Given the description of an element on the screen output the (x, y) to click on. 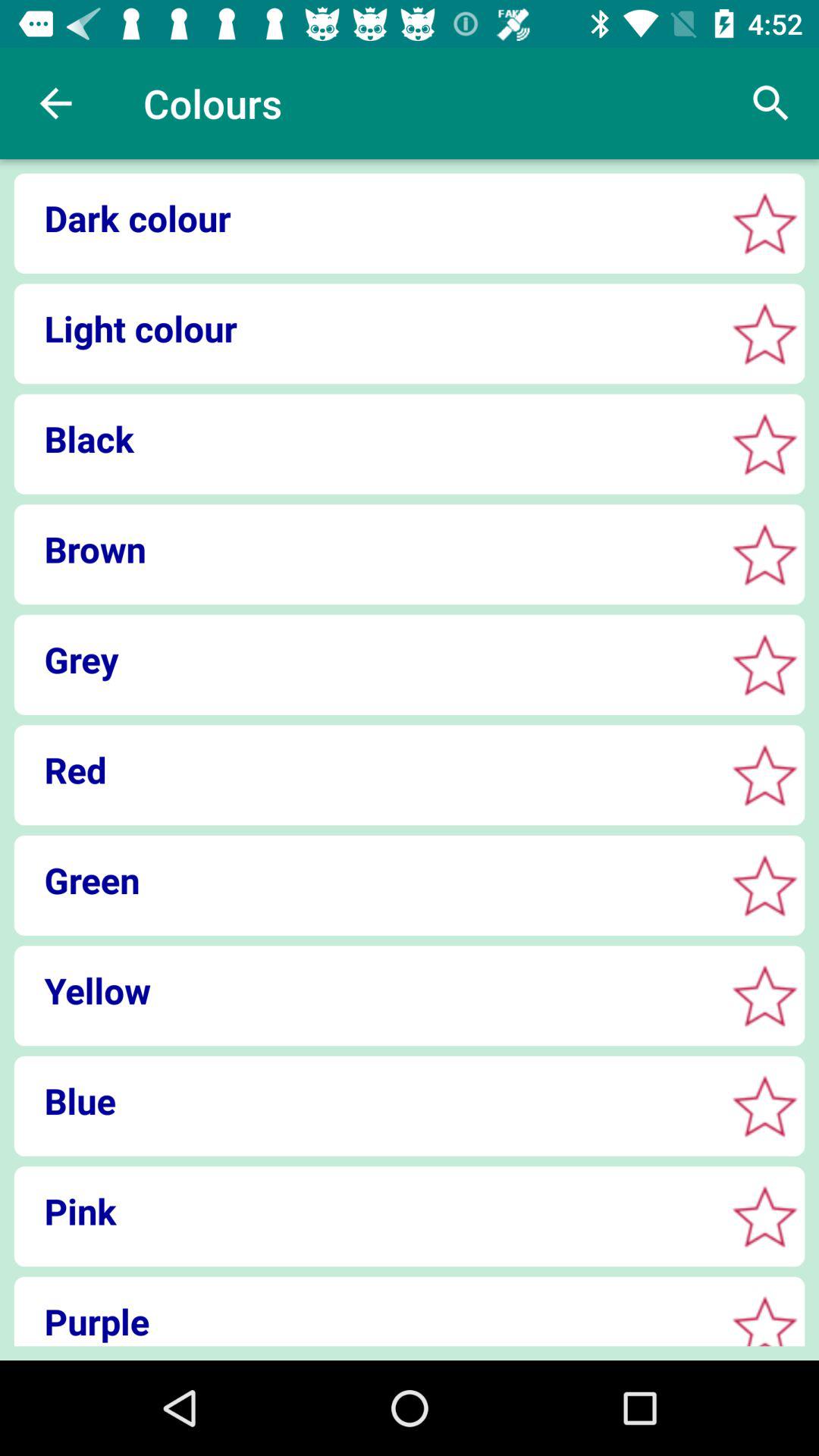
jump until dark colour icon (364, 217)
